Given the description of an element on the screen output the (x, y) to click on. 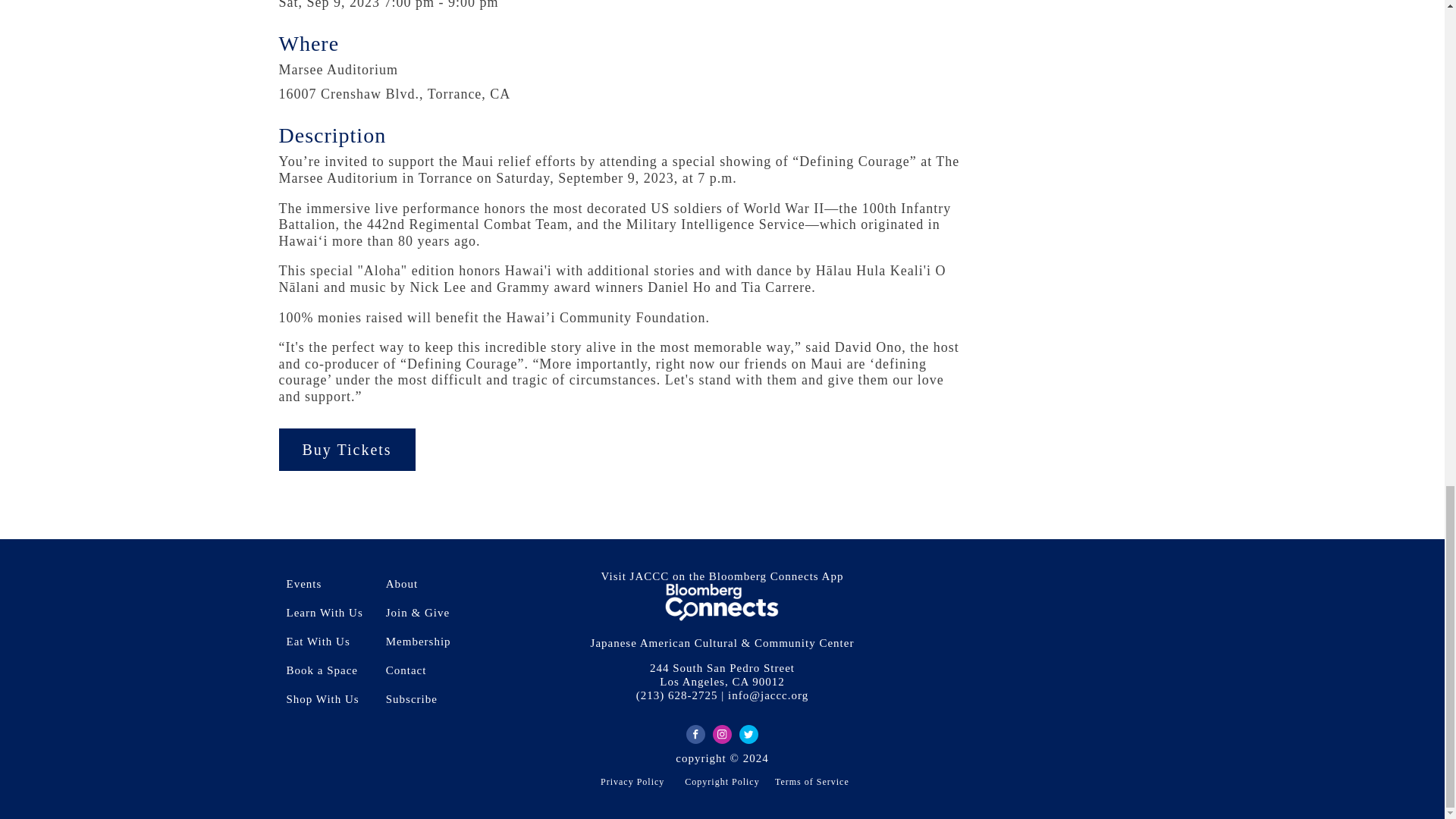
Book a Space (328, 670)
Eat With Us (328, 641)
Buy Tickets (346, 449)
Learn With Us (328, 612)
Events (328, 583)
Membership (421, 641)
About (421, 583)
Shop With Us (328, 698)
